Given the description of an element on the screen output the (x, y) to click on. 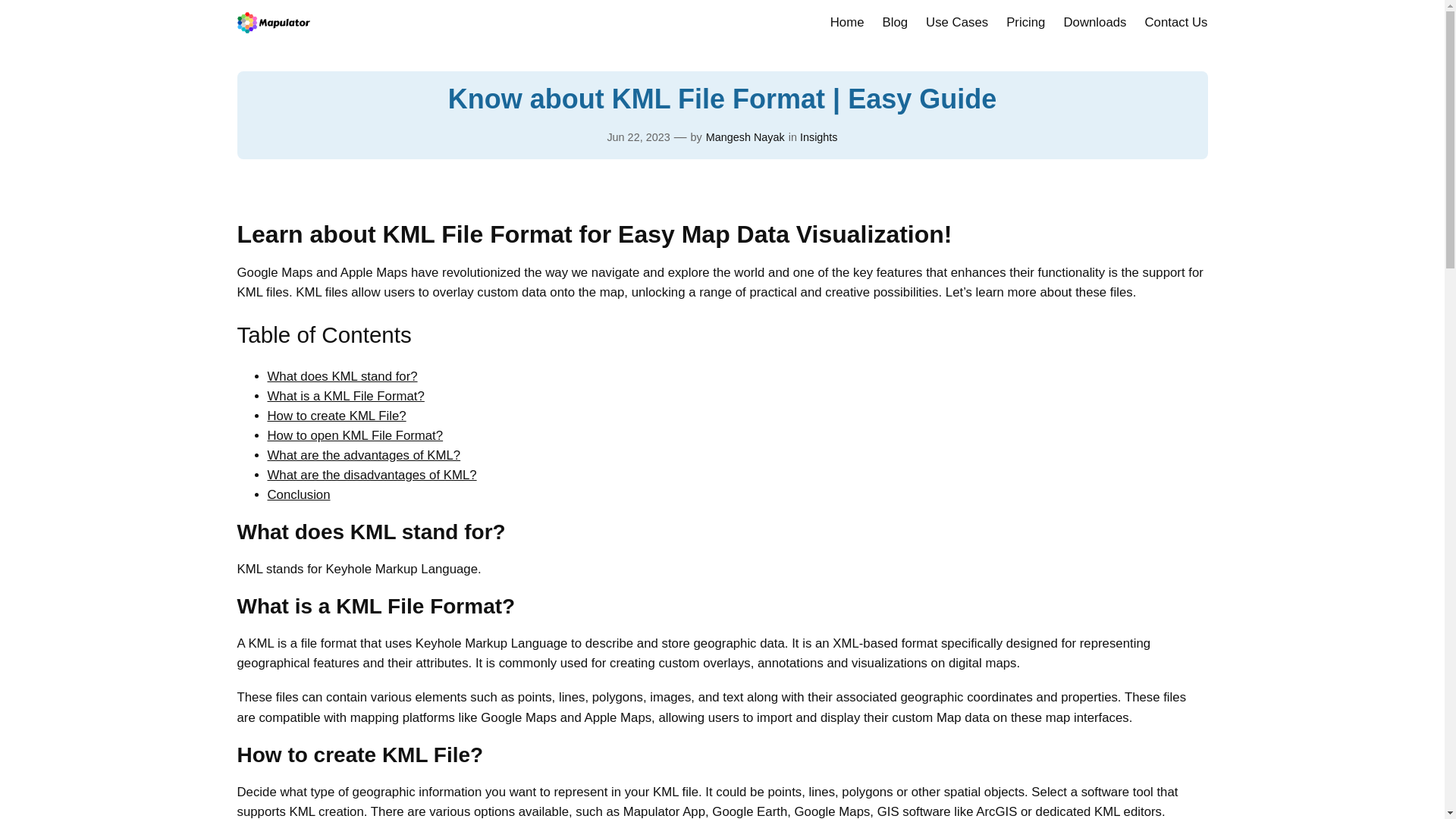
Home (846, 22)
What is a KML File Format? (344, 396)
What does KML stand for? (341, 376)
Blog (894, 22)
How to open KML File Format? (354, 435)
How to create KML File? (336, 415)
Conclusion (298, 494)
Use Cases (957, 22)
Mangesh Nayak (745, 137)
Insights (818, 137)
Downloads (1093, 22)
What are the advantages of KML? (363, 454)
Jun 22, 2023 (638, 137)
What are the disadvantages of KML? (371, 474)
Contact Us (1175, 22)
